Given the description of an element on the screen output the (x, y) to click on. 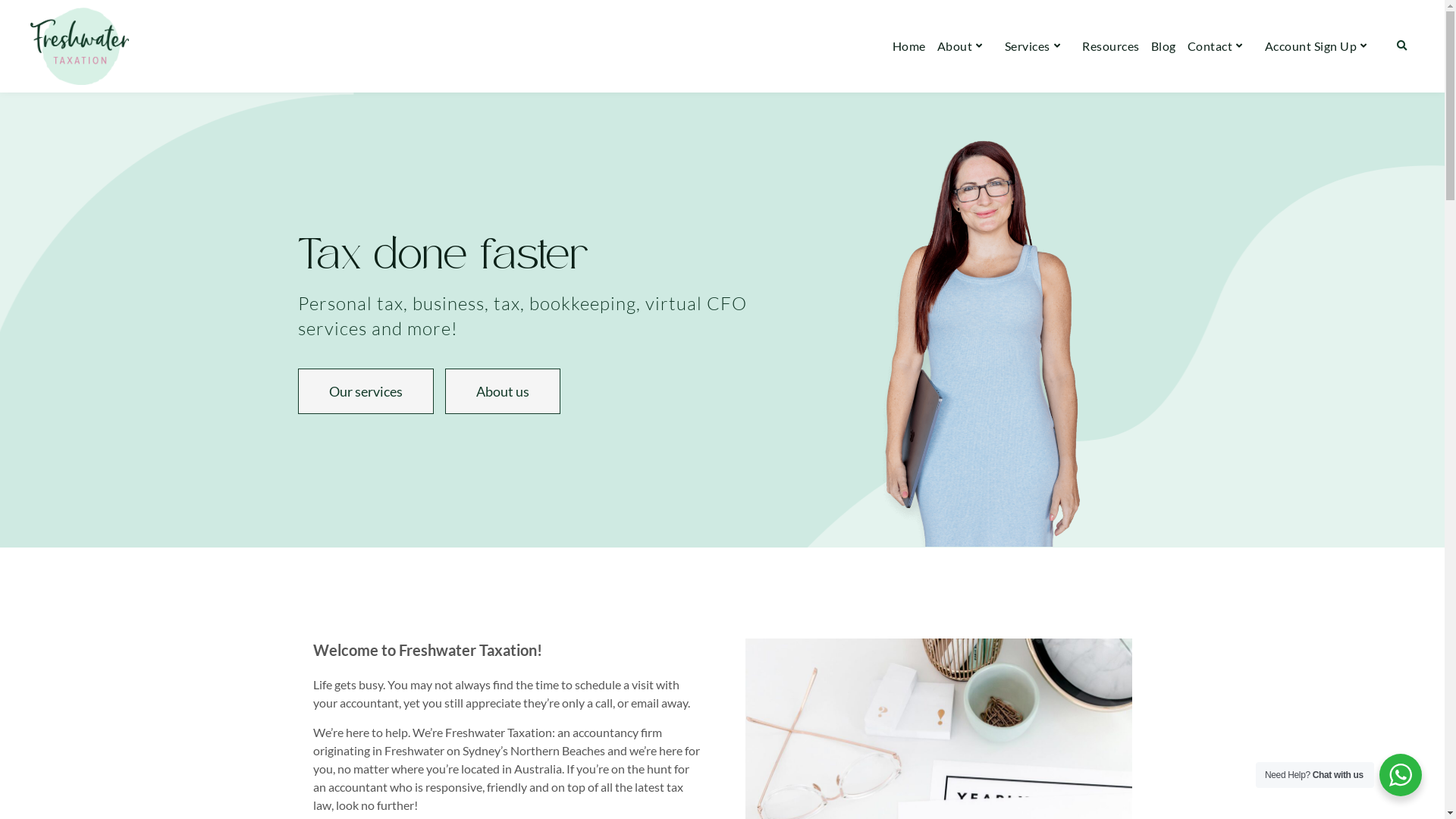
Contact Element type: text (1220, 45)
Our services Element type: text (365, 391)
About us Element type: text (501, 391)
Account Sign Up Element type: text (1320, 45)
Services Element type: text (1037, 45)
Resources Element type: text (1110, 45)
About Element type: text (965, 45)
Home Element type: text (908, 45)
Blog Element type: text (1163, 45)
